Given the description of an element on the screen output the (x, y) to click on. 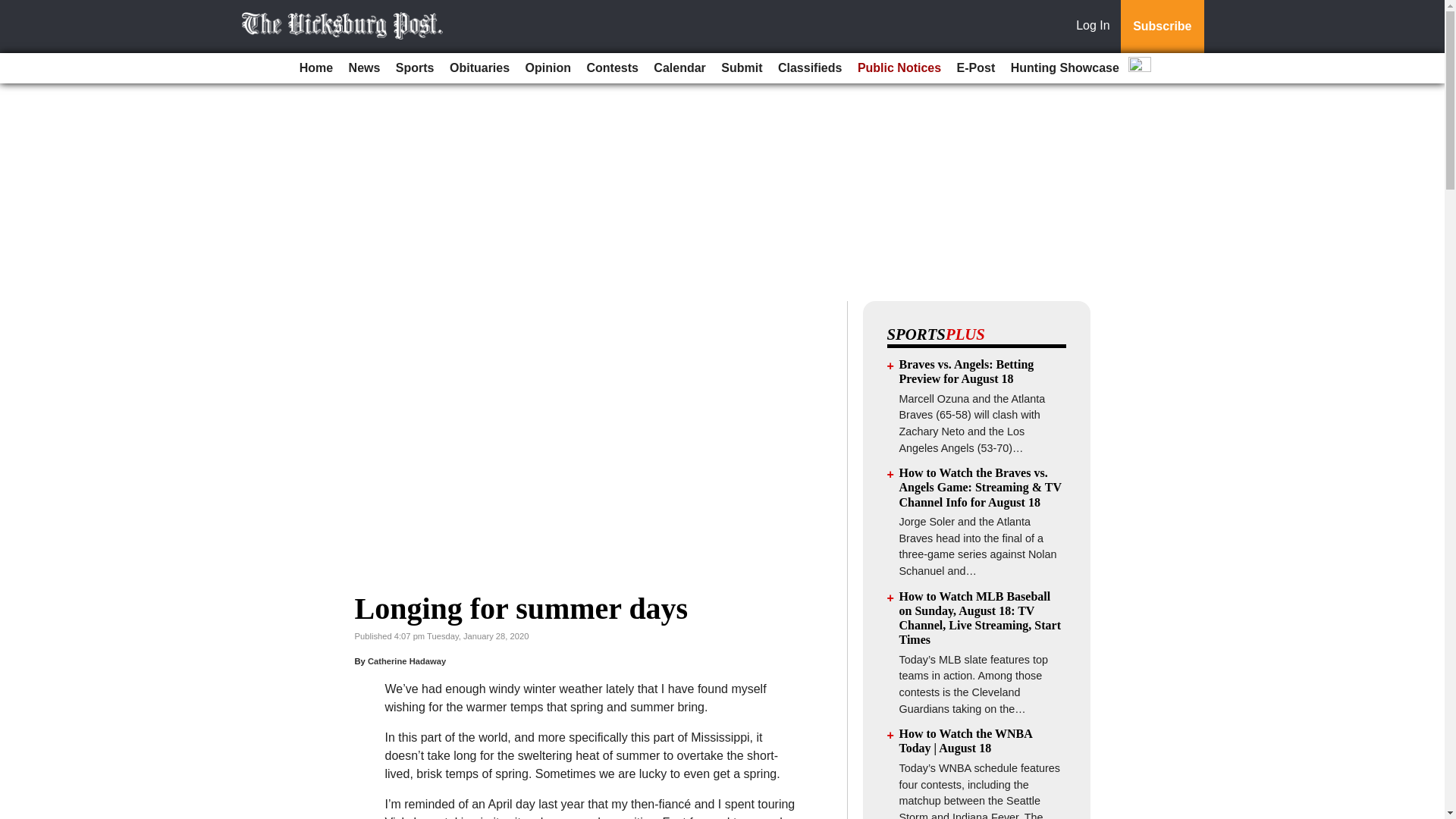
Hunting Showcase (1064, 68)
Public Notices (899, 68)
Go (13, 9)
E-Post (975, 68)
Sports (415, 68)
Contests (611, 68)
Calendar (679, 68)
Home (316, 68)
Subscribe (1162, 26)
Log In (1095, 26)
